Given the description of an element on the screen output the (x, y) to click on. 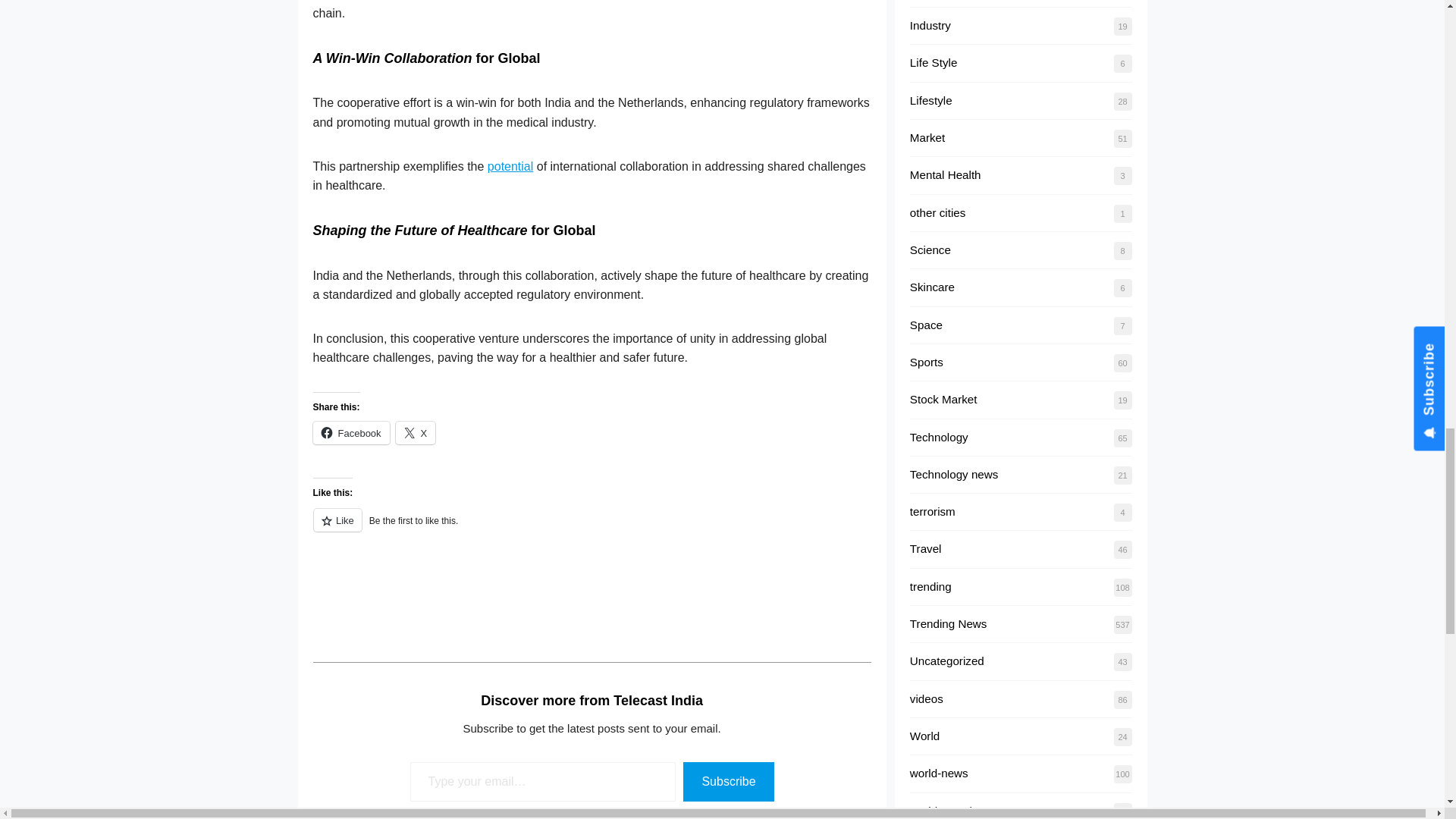
X (415, 432)
Click to share on X (415, 432)
Facebook (350, 432)
Please fill in this field. (543, 782)
Click to share on Facebook (350, 432)
potential (510, 165)
Subscribe (727, 782)
Like or Reblog (591, 564)
